Given the description of an element on the screen output the (x, y) to click on. 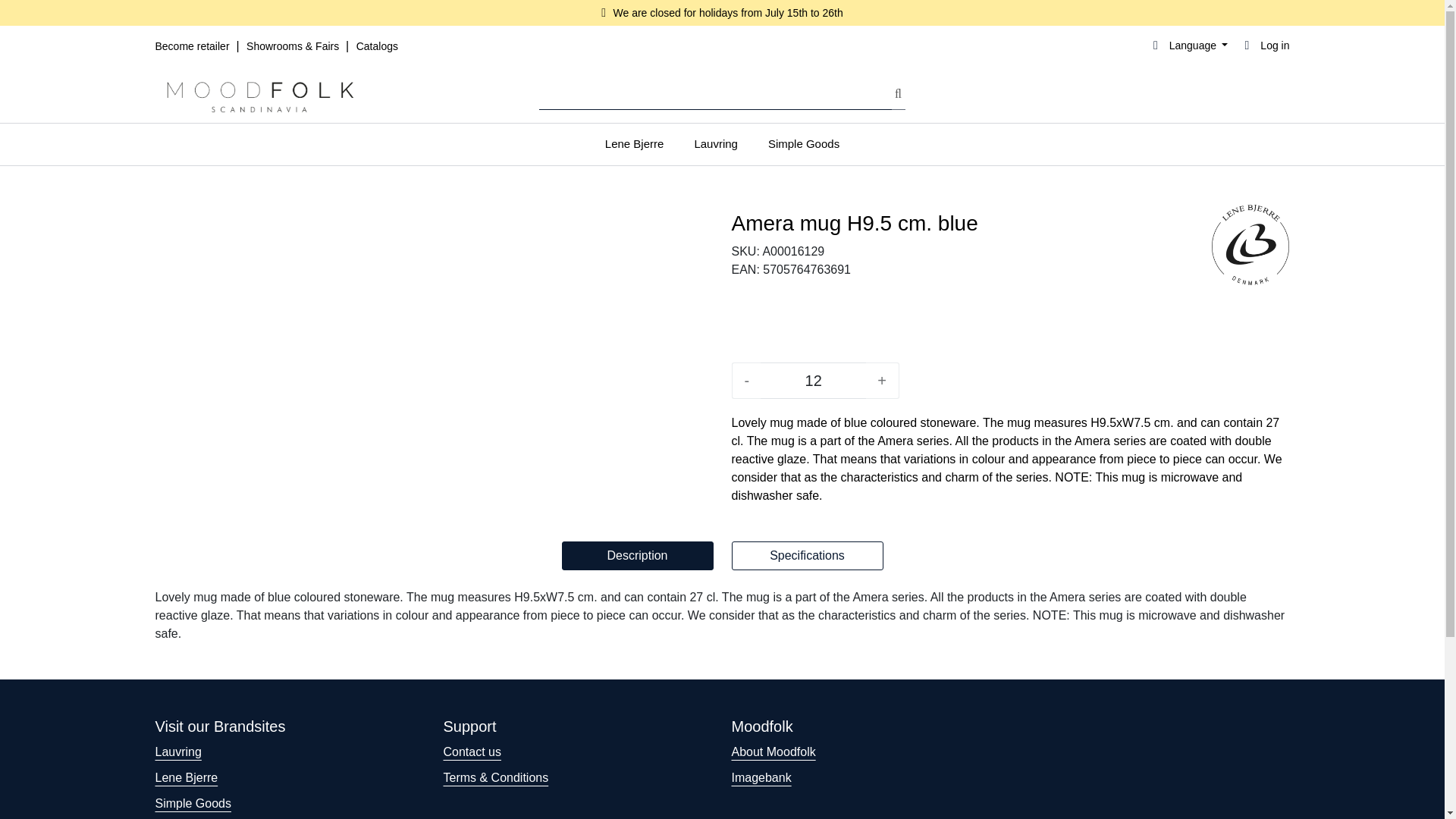
Log in (1264, 45)
Lauvring (177, 751)
Simple Goods (192, 802)
Lene Bjerre (1250, 244)
Simple Goods (803, 144)
Catalogs (376, 45)
Language (1188, 45)
Become retailer (192, 45)
Lene Bjerre (634, 144)
About Moodfolk (772, 751)
Imagebank (760, 777)
Lene Bjerre (185, 777)
Lauvring (715, 144)
12 (813, 380)
Description (636, 555)
